Given the description of an element on the screen output the (x, y) to click on. 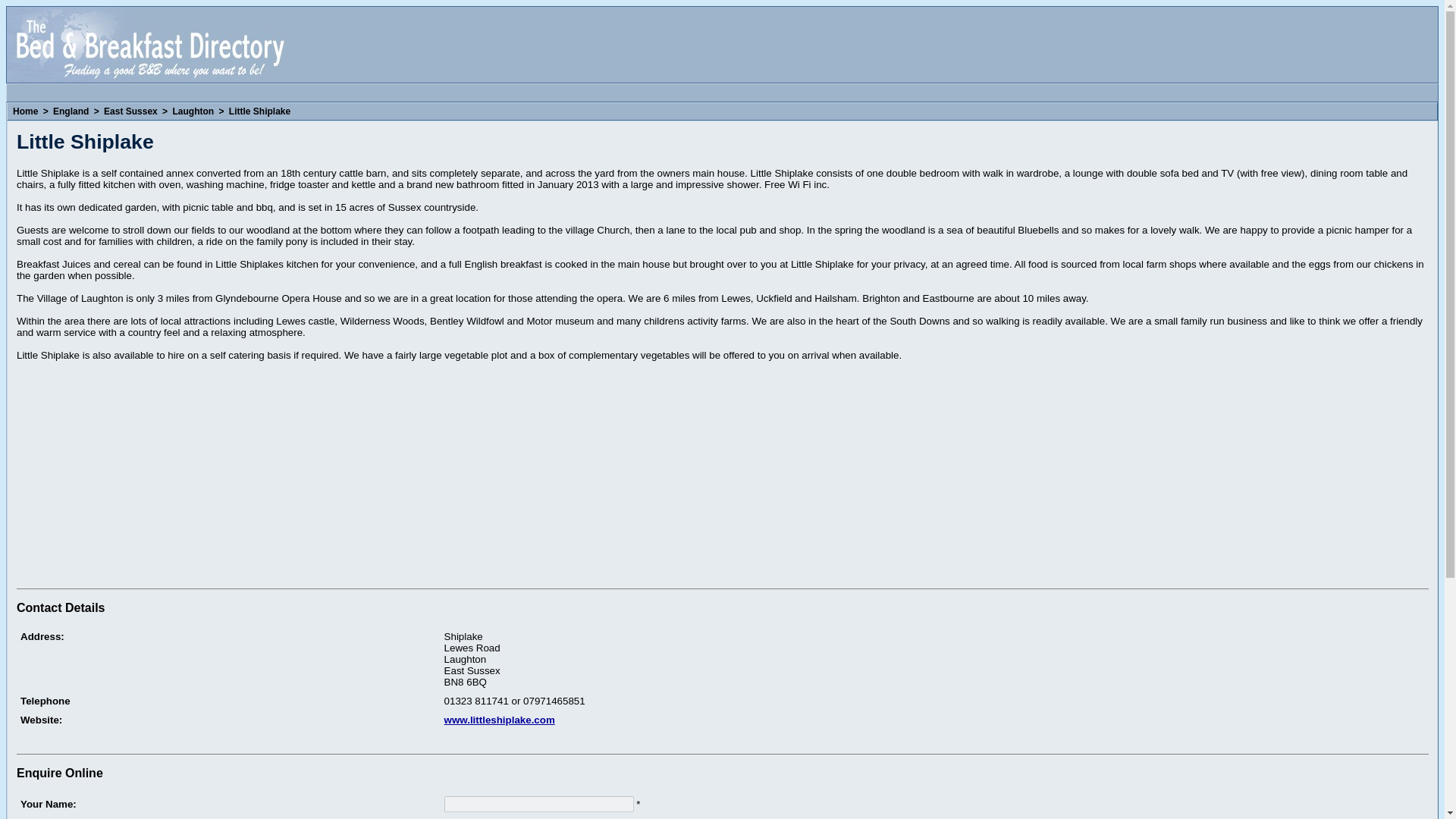
Little Shiplake (259, 110)
East Sussex Bed and Breakfast (228, 738)
Bed and Breakfast in Laughton (192, 110)
Home (25, 110)
Bed and Breakfast in England (70, 110)
Bed and Breakfast in East Sussex (130, 110)
Advertisement (143, 477)
Little Shiplake (259, 110)
Little Shiplake (934, 738)
Laughton (192, 110)
